Given the description of an element on the screen output the (x, y) to click on. 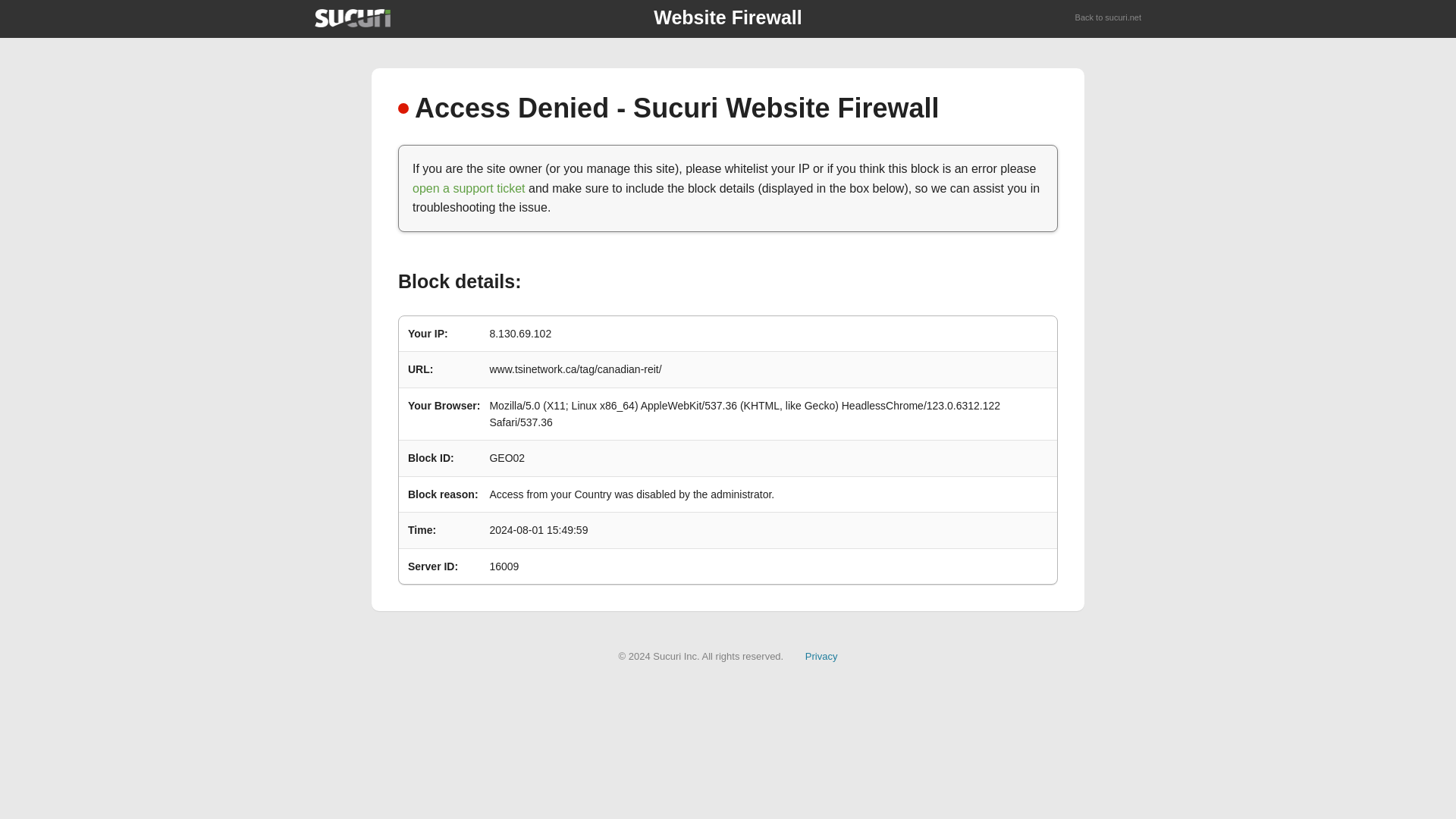
open a support ticket (468, 187)
Back to sucuri.net (1108, 18)
Privacy (821, 655)
